Given the description of an element on the screen output the (x, y) to click on. 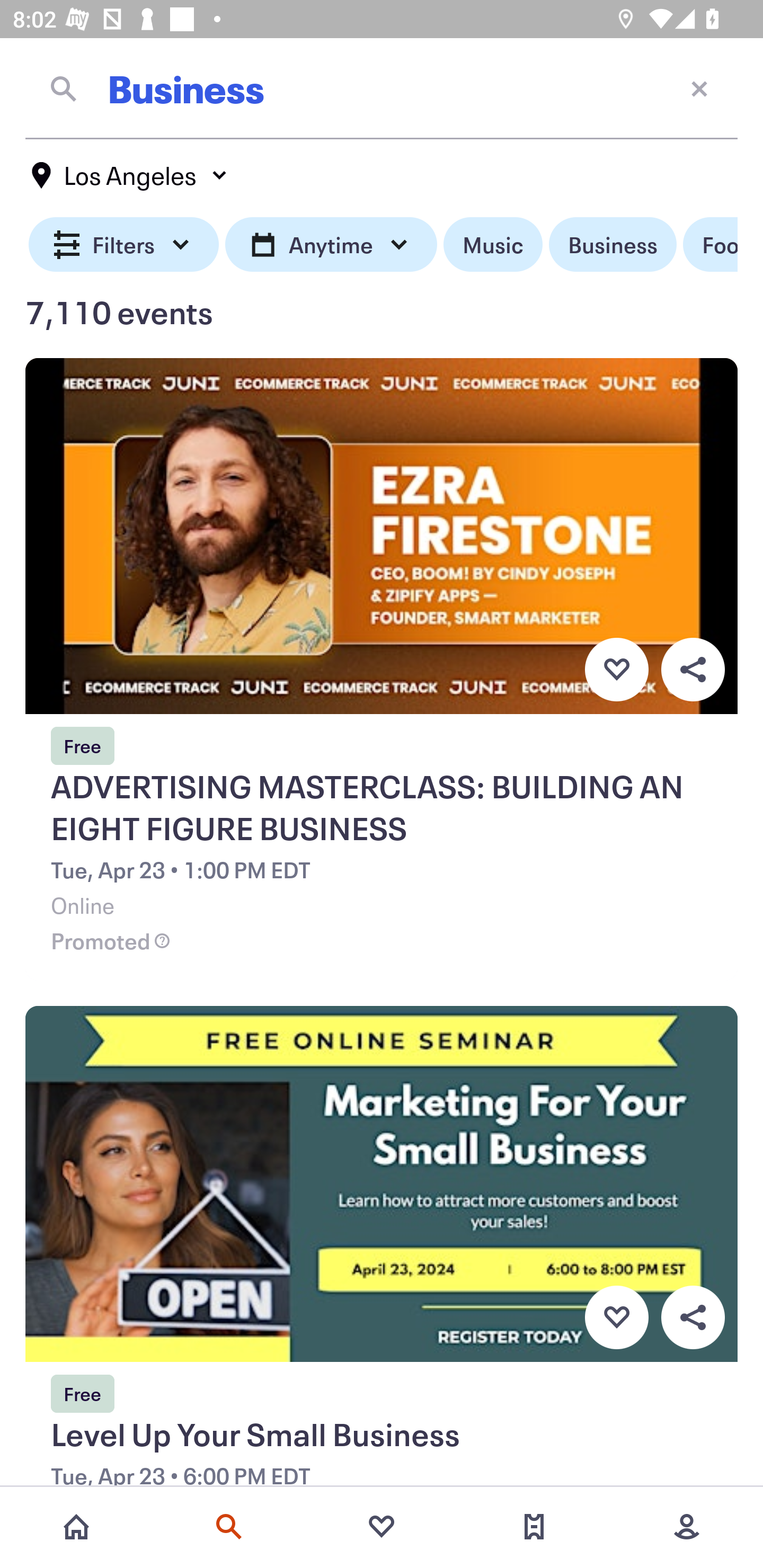
Business Close current screen (381, 88)
Close current screen (699, 88)
Los Angeles (130, 175)
Filters (123, 244)
Anytime (331, 244)
Music (492, 244)
Business (612, 244)
Favorite button (616, 669)
Overflow menu button (692, 669)
Favorite button (616, 1317)
Overflow menu button (692, 1317)
Home (76, 1526)
Search events (228, 1526)
Favorites (381, 1526)
Tickets (533, 1526)
More (686, 1526)
